Given the description of an element on the screen output the (x, y) to click on. 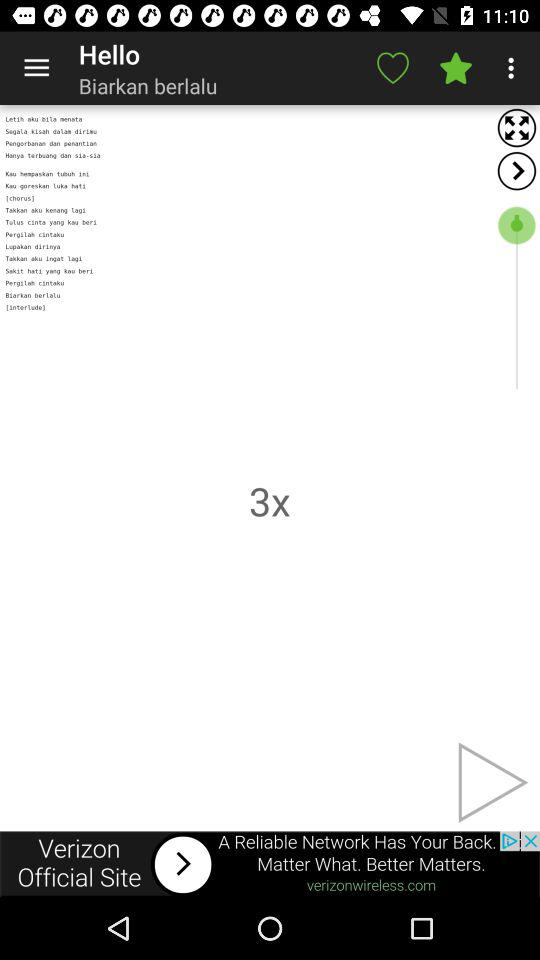
advertisement display (270, 864)
